Given the description of an element on the screen output the (x, y) to click on. 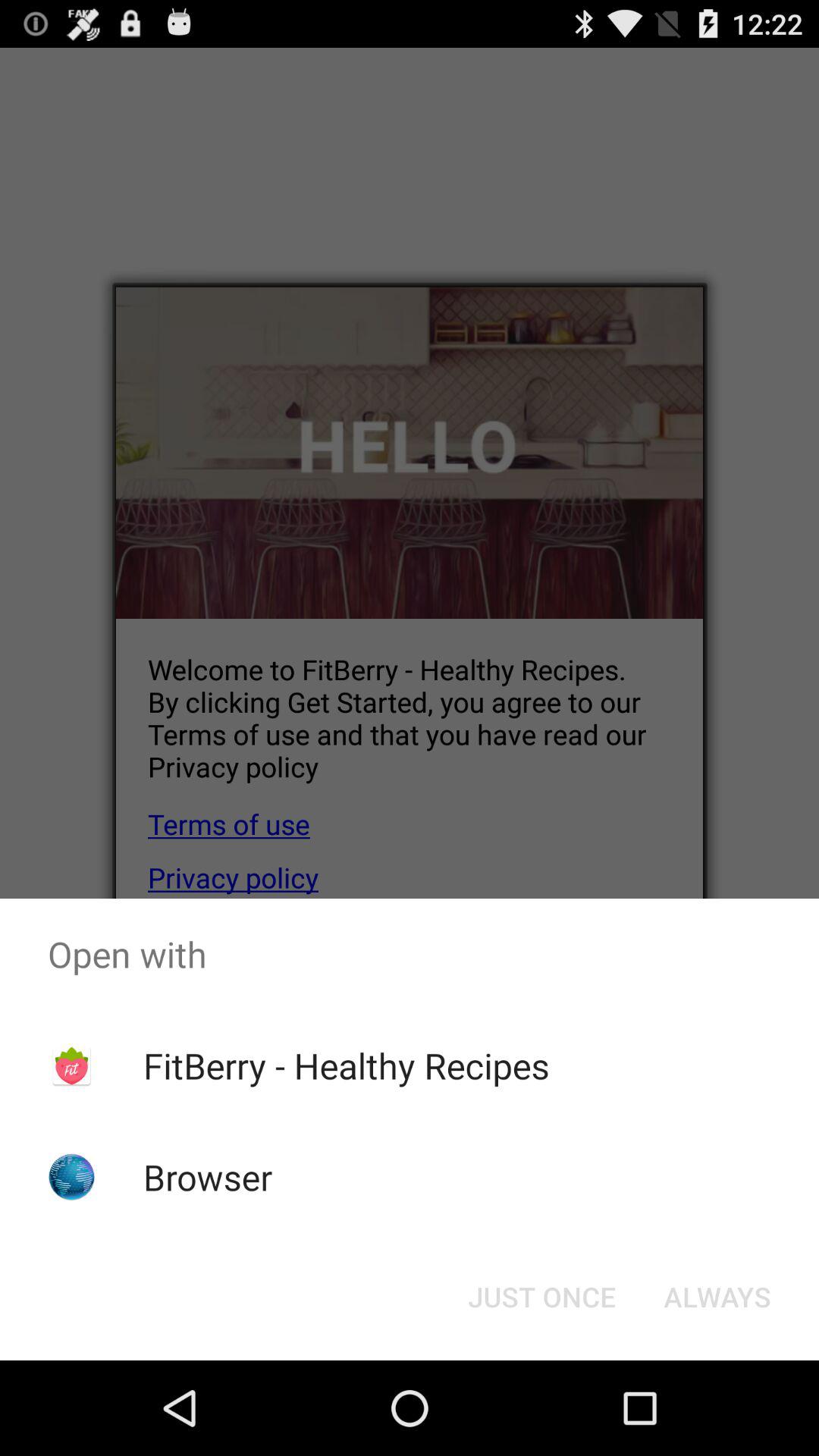
turn off app below the fitberry - healthy recipes app (207, 1176)
